Given the description of an element on the screen output the (x, y) to click on. 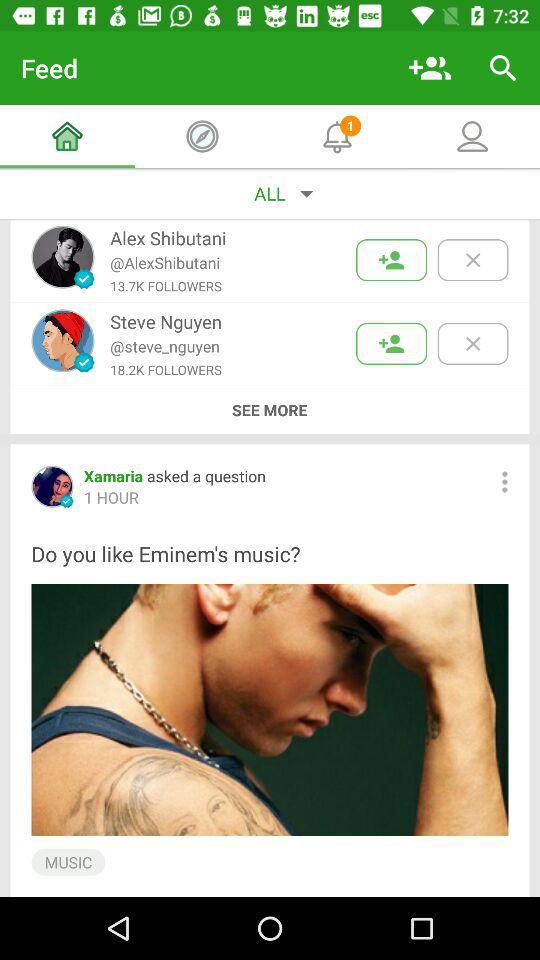
bring up options (504, 481)
